Given the description of an element on the screen output the (x, y) to click on. 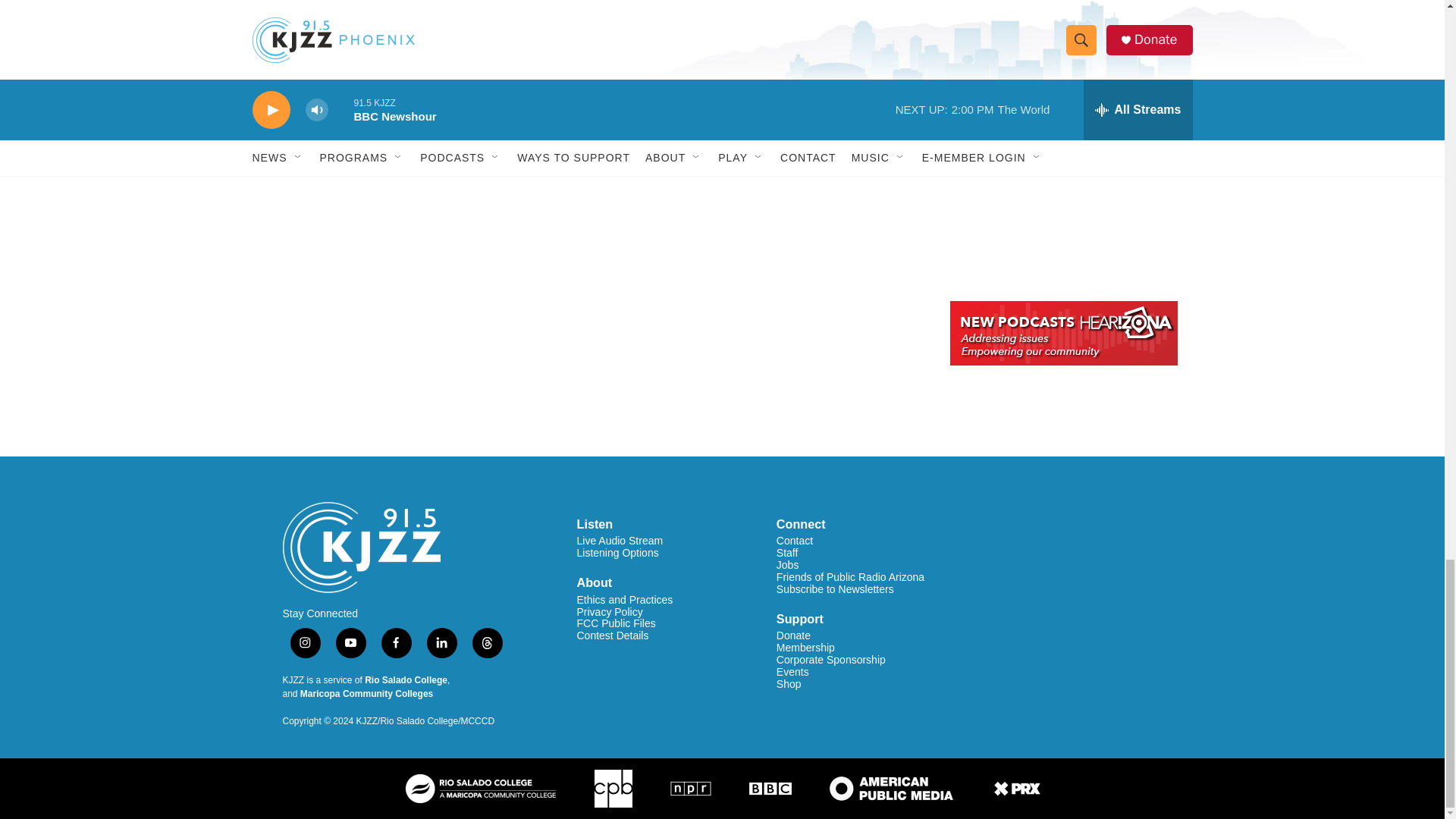
3rd party ad content (1062, 176)
